Given the description of an element on the screen output the (x, y) to click on. 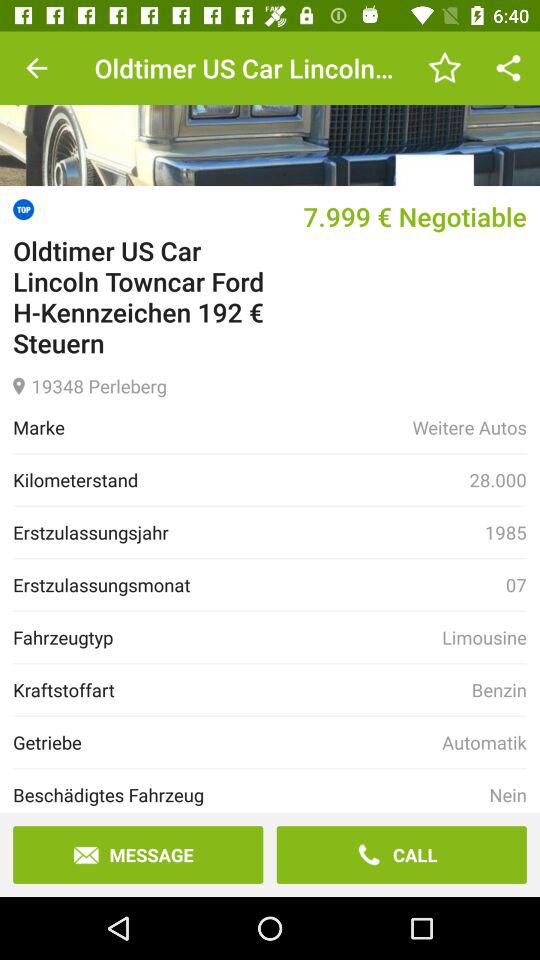
select 07 item (515, 584)
